Given the description of an element on the screen output the (x, y) to click on. 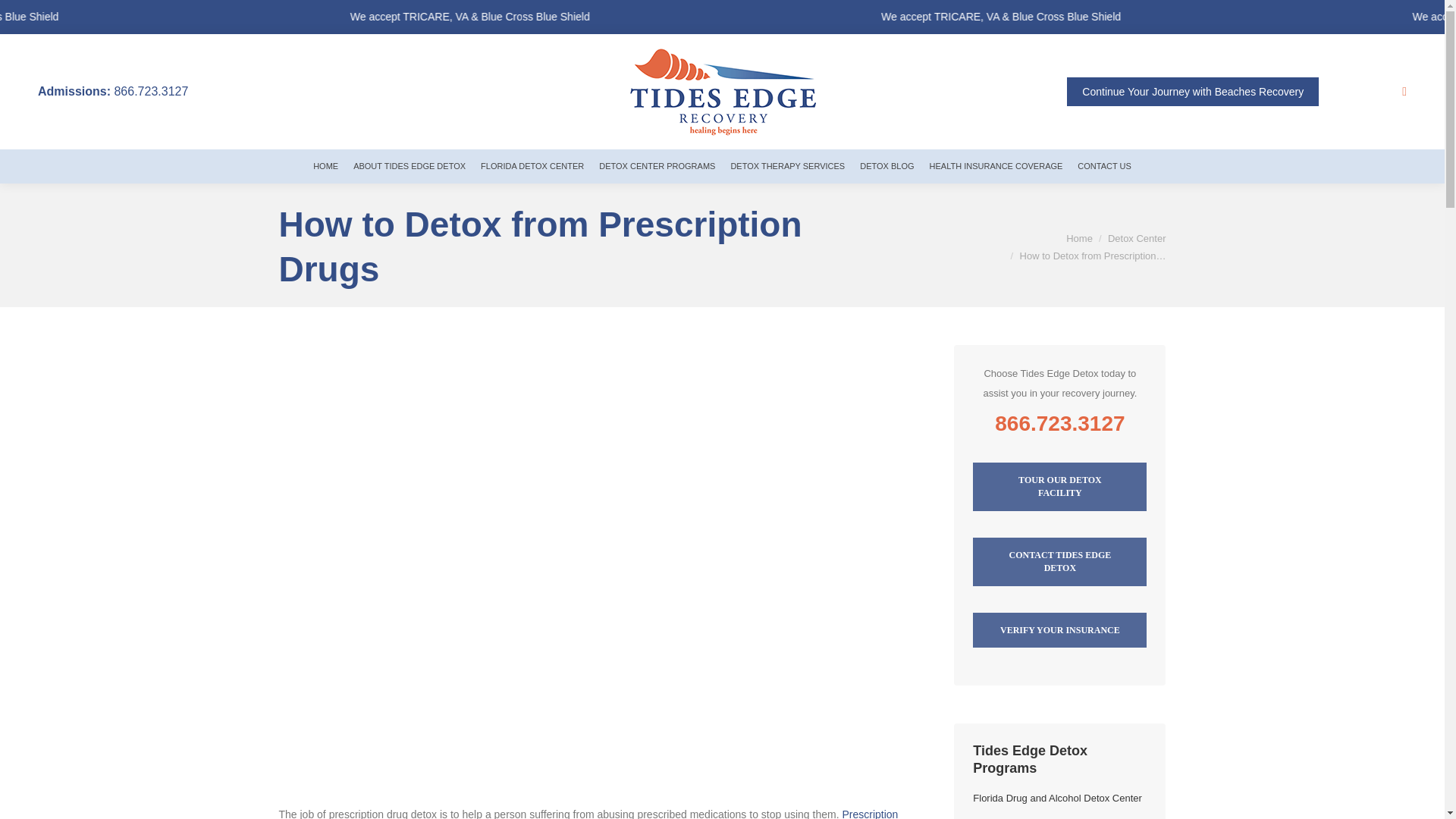
Admissions: 866.723.3127 (112, 91)
DETOX CENTER PROGRAMS (656, 166)
Continue Your Journey with Beaches Recovery (1193, 91)
Go! (24, 15)
ABOUT TIDES EDGE DETOX (409, 166)
HOME (325, 166)
FLORIDA DETOX CENTER (532, 166)
